Given the description of an element on the screen output the (x, y) to click on. 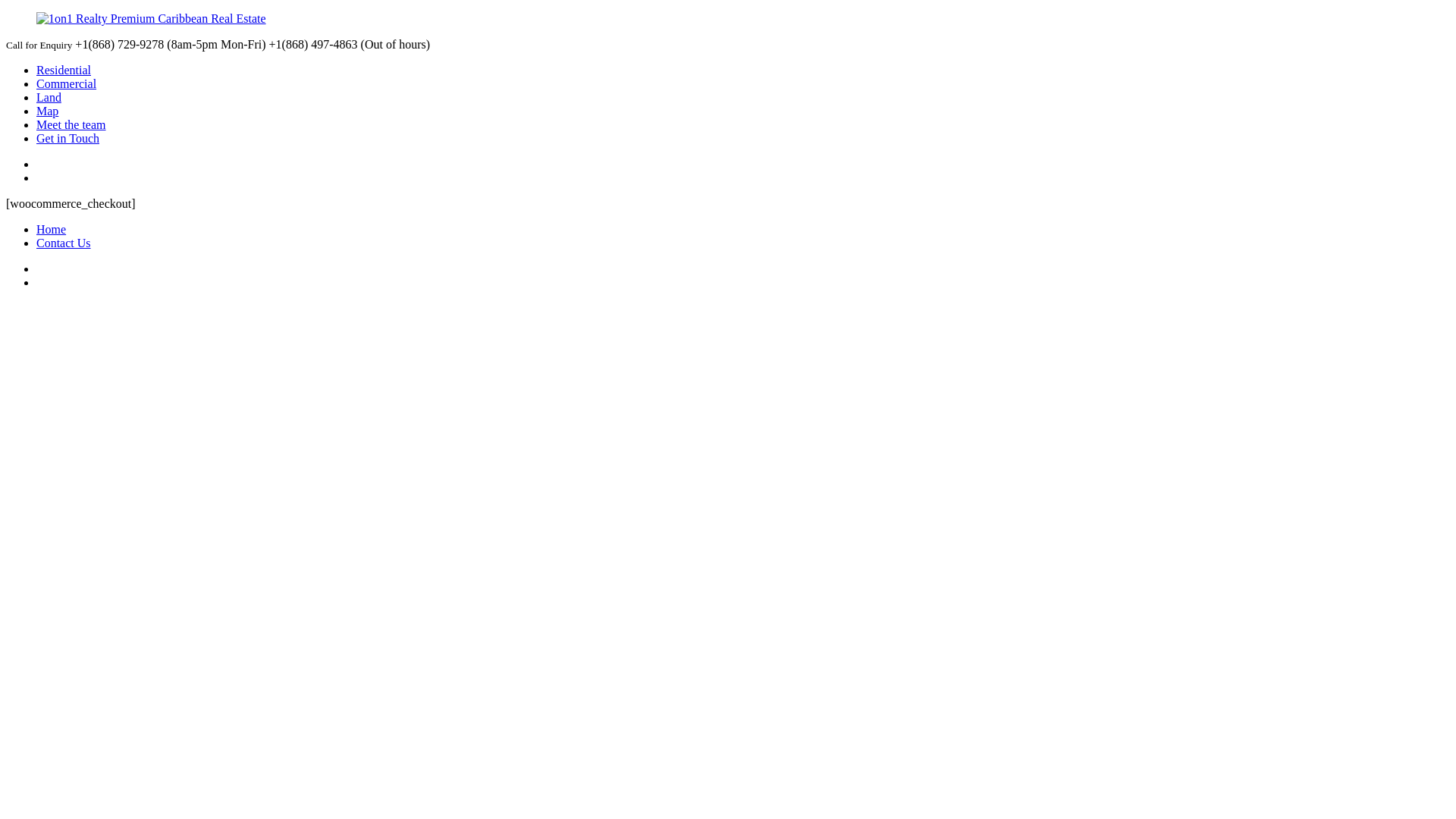
Commercial Element type: text (66, 83)
Residential Element type: text (63, 69)
Map Element type: text (47, 110)
Land Element type: text (48, 97)
Get in Touch Element type: text (67, 137)
Contact Us Element type: text (63, 242)
Home Element type: text (50, 228)
Meet the team Element type: text (71, 124)
